Given the description of an element on the screen output the (x, y) to click on. 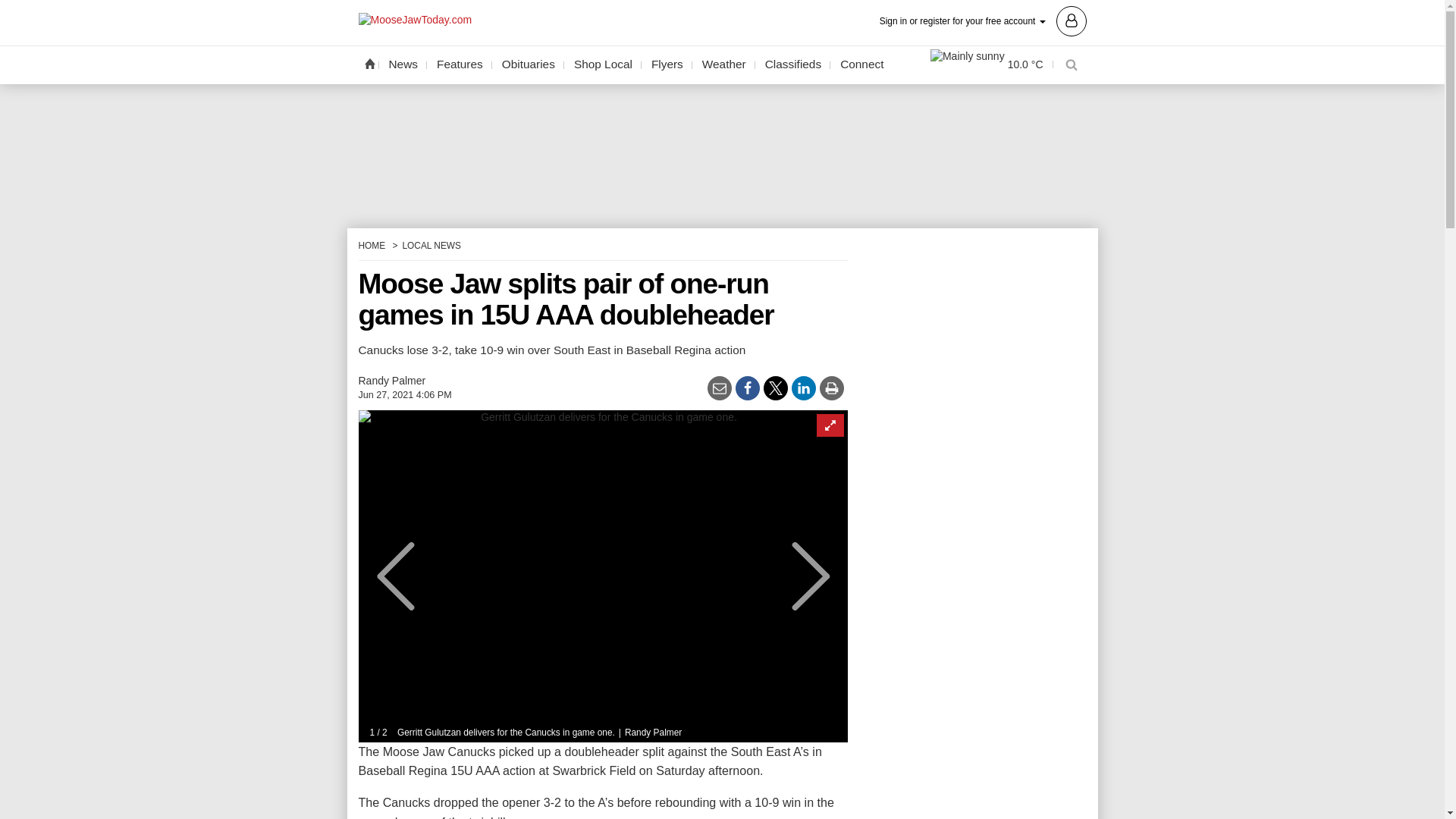
Obituaries (528, 64)
Shop Local (603, 64)
3rd party ad content (972, 764)
3rd party ad content (721, 155)
Home (368, 63)
News (403, 64)
Expand (829, 425)
